Given the description of an element on the screen output the (x, y) to click on. 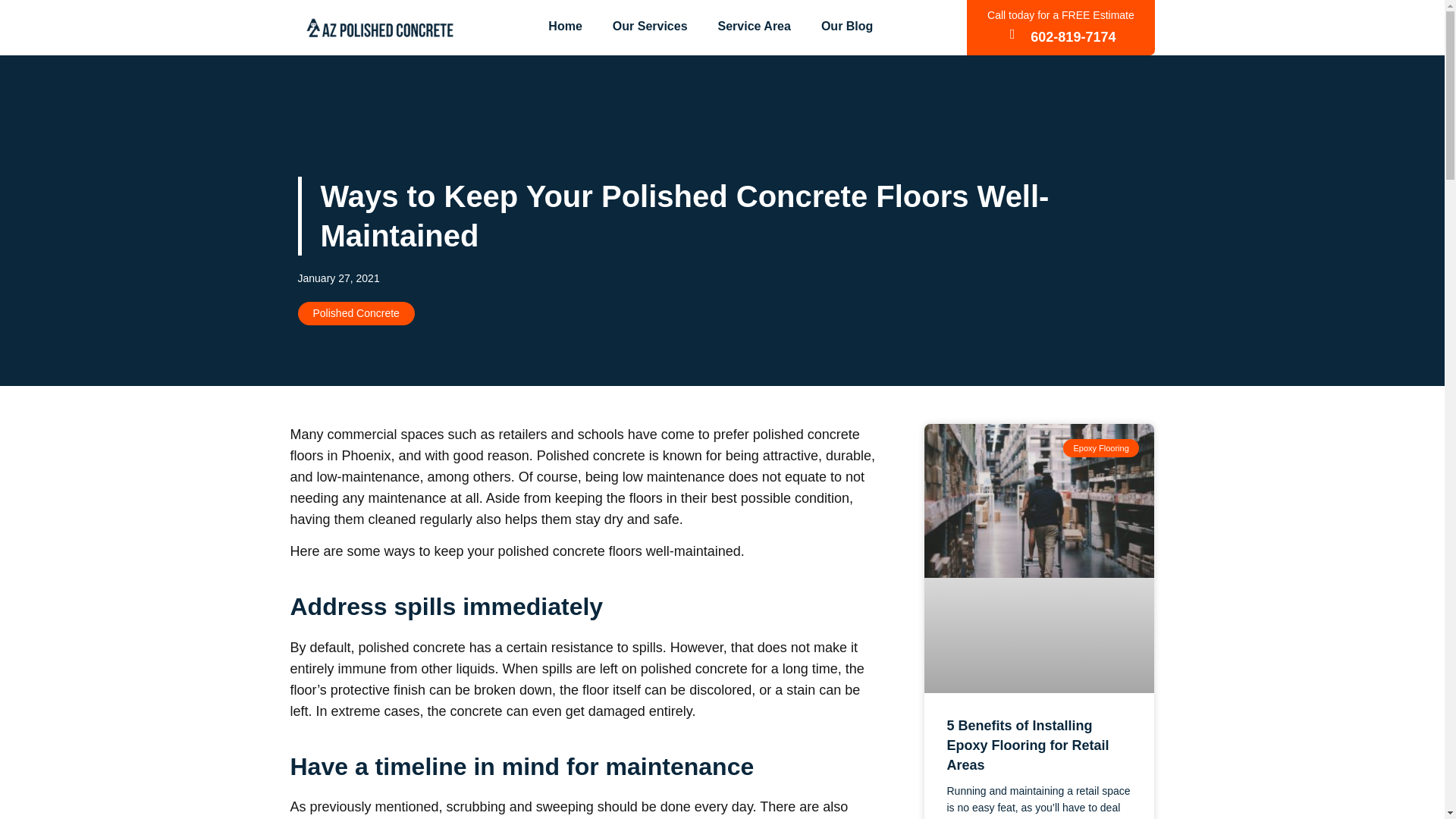
602-819-7174 (1072, 37)
Polished Concrete (355, 313)
5 Benefits of Installing Epoxy Flooring for Retail Areas (1027, 745)
January 27, 2021 (337, 278)
Our Services (649, 26)
Our Blog (847, 26)
Home (564, 26)
Service Area (754, 26)
